Given the description of an element on the screen output the (x, y) to click on. 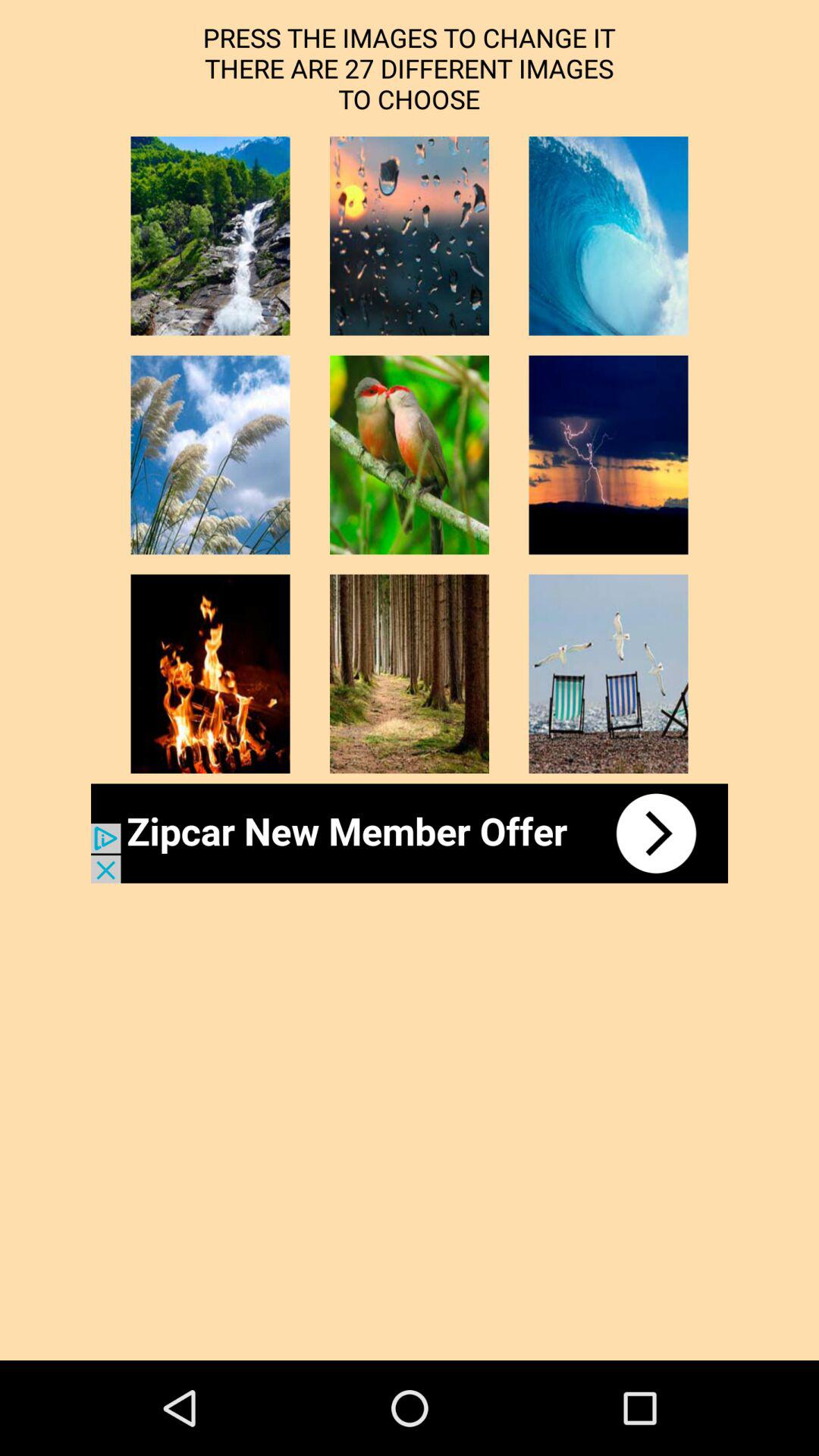
change image (409, 235)
